Given the description of an element on the screen output the (x, y) to click on. 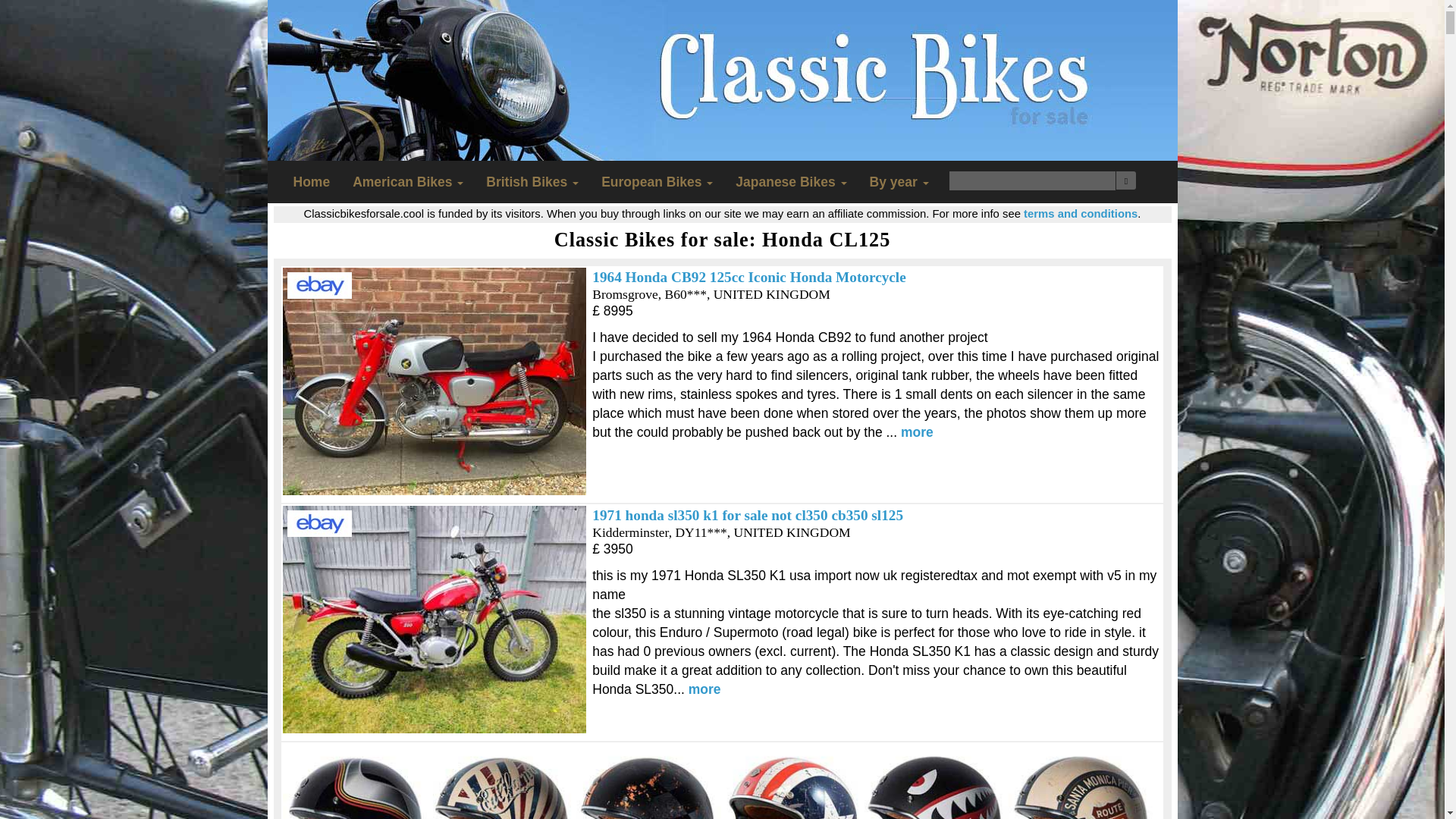
American Bikes (407, 181)
Home (312, 181)
